Given the description of an element on the screen output the (x, y) to click on. 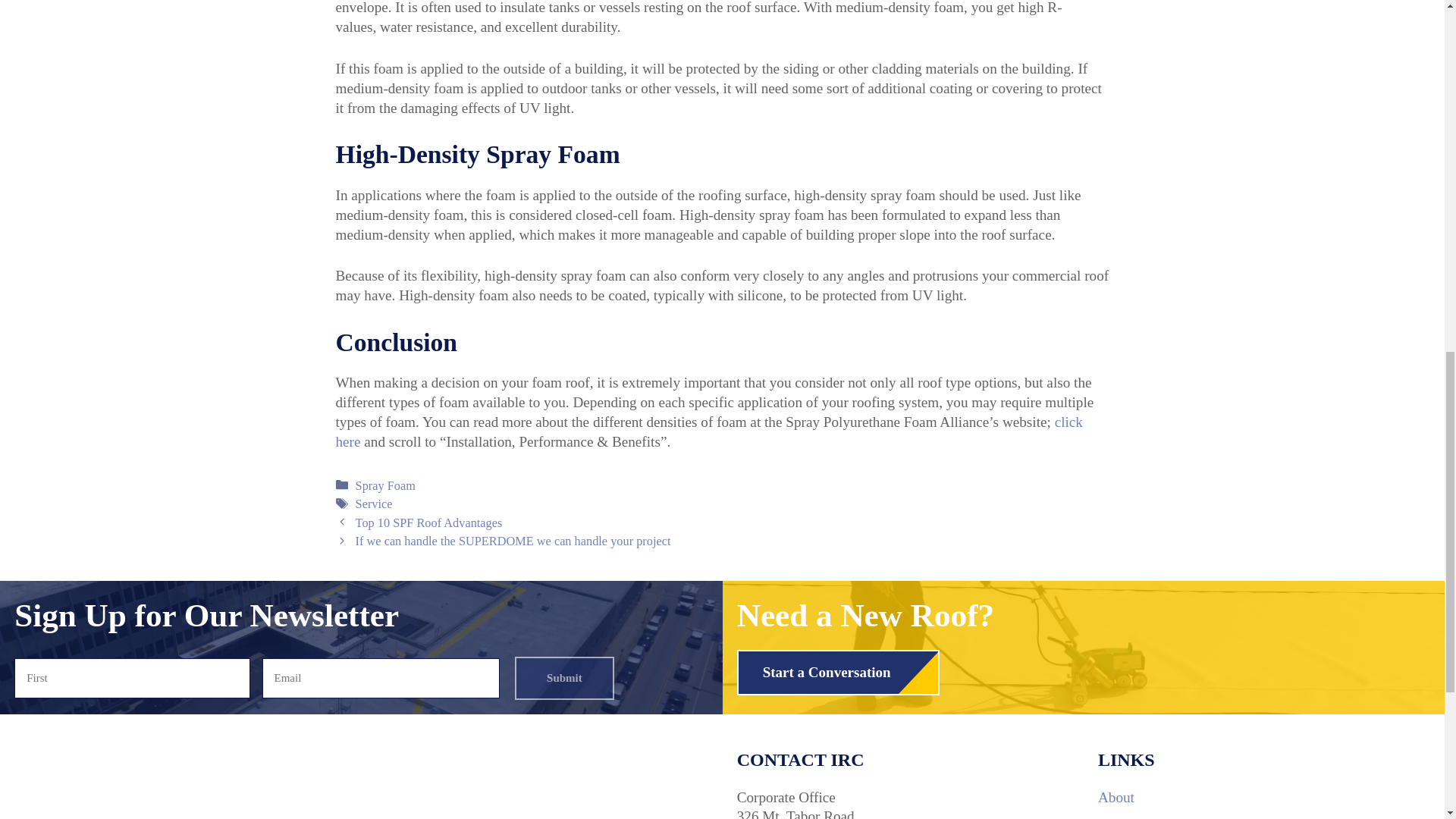
Service (374, 503)
Submit (564, 678)
If we can handle the SUPERDOME we can handle your project (513, 540)
Spray Foam (384, 485)
click here (707, 431)
Start a Conversation (837, 672)
Scroll back to top (1406, 720)
About (1115, 797)
Top 10 SPF Roof Advantages (428, 522)
Submit (564, 678)
